Given the description of an element on the screen output the (x, y) to click on. 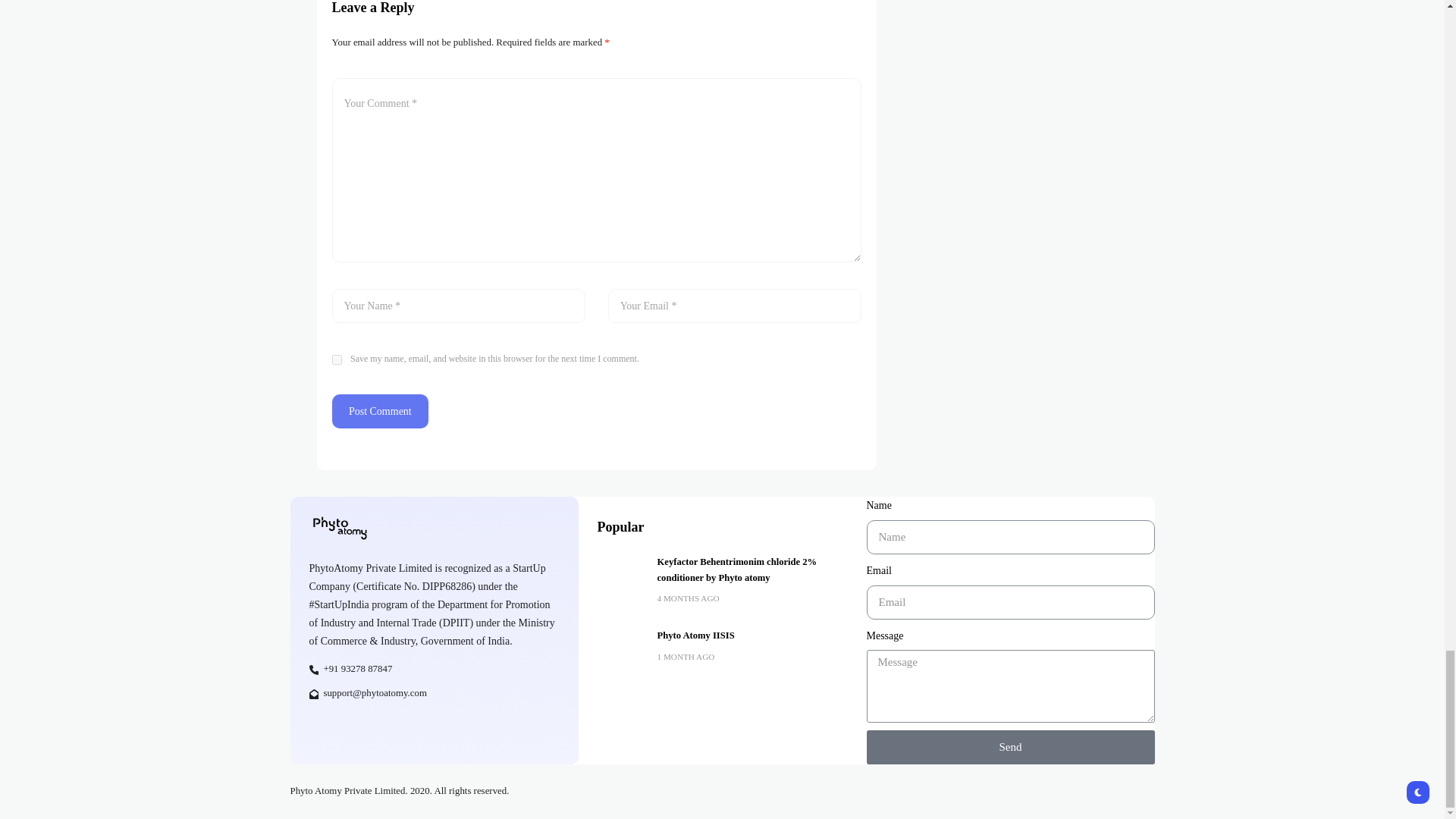
Post Comment (380, 410)
yes (336, 359)
